Given the description of an element on the screen output the (x, y) to click on. 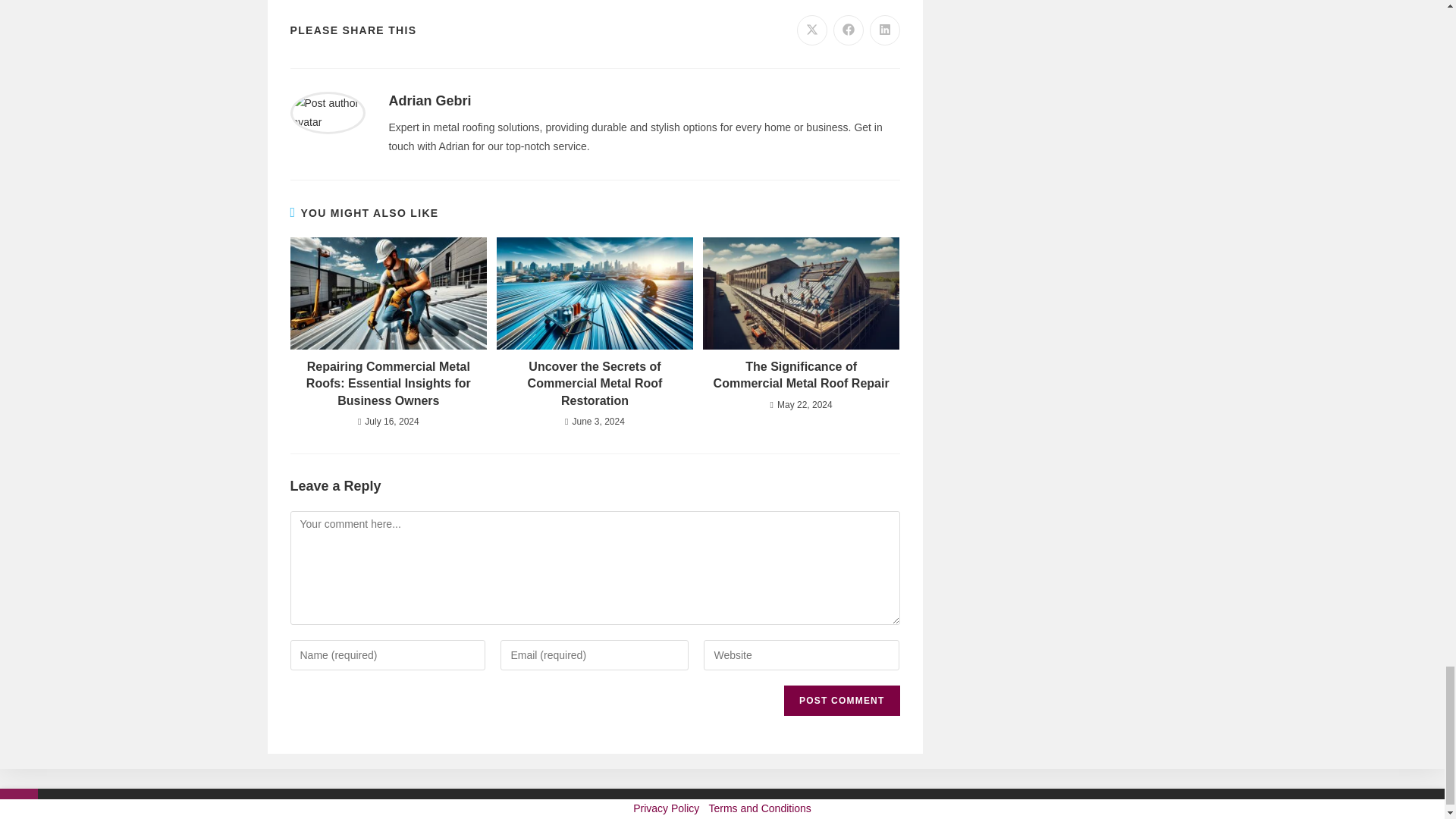
Visit author page (429, 100)
Adrian Gebri (429, 100)
Opens in a new window (811, 30)
Opens in a new window (847, 30)
Post Comment (841, 700)
Opens in a new window (884, 30)
Visit author page (327, 111)
